Given the description of an element on the screen output the (x, y) to click on. 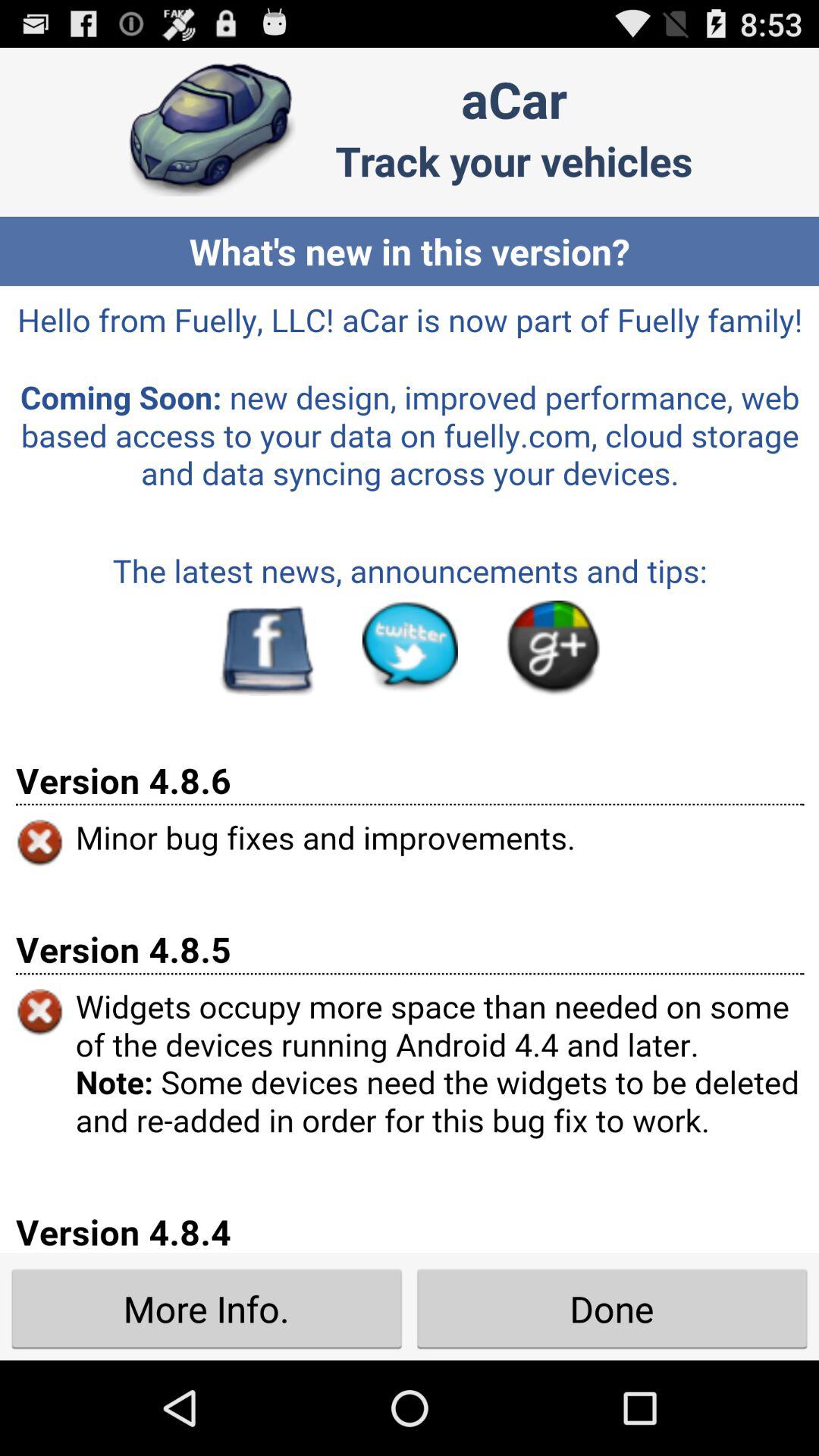
screen page (409, 769)
